Given the description of an element on the screen output the (x, y) to click on. 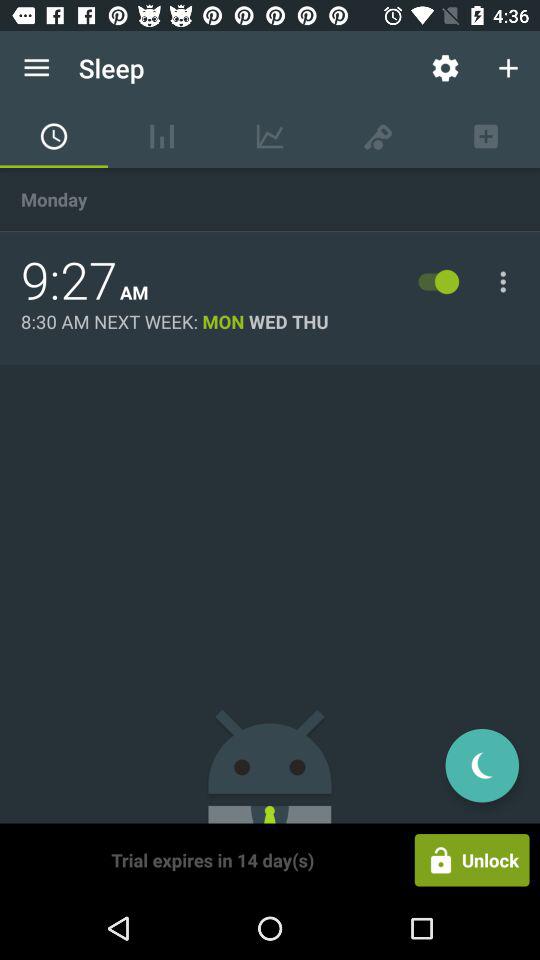
turn on the icon next to am item (69, 281)
